Given the description of an element on the screen output the (x, y) to click on. 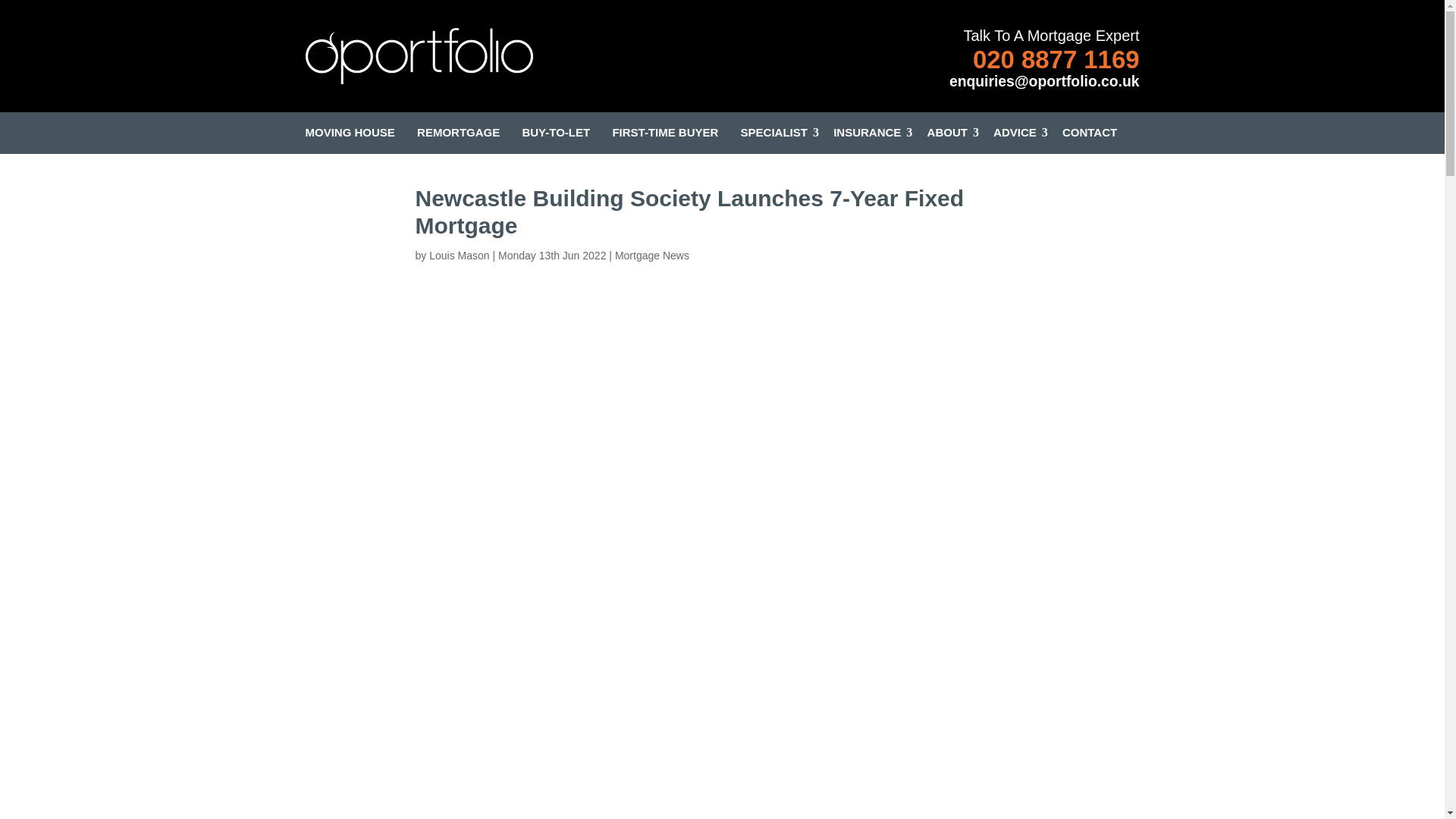
MOVING HOUSE (349, 128)
FIRST-TIME BUYER (664, 128)
020 8877 1169 (1056, 59)
REMORTGAGE (457, 128)
SPECIALIST (774, 128)
INSURANCE (866, 128)
BUY-TO-LET (555, 128)
Home (418, 59)
Posts by Louis Mason (459, 255)
ABOUT (947, 128)
